Given the description of an element on the screen output the (x, y) to click on. 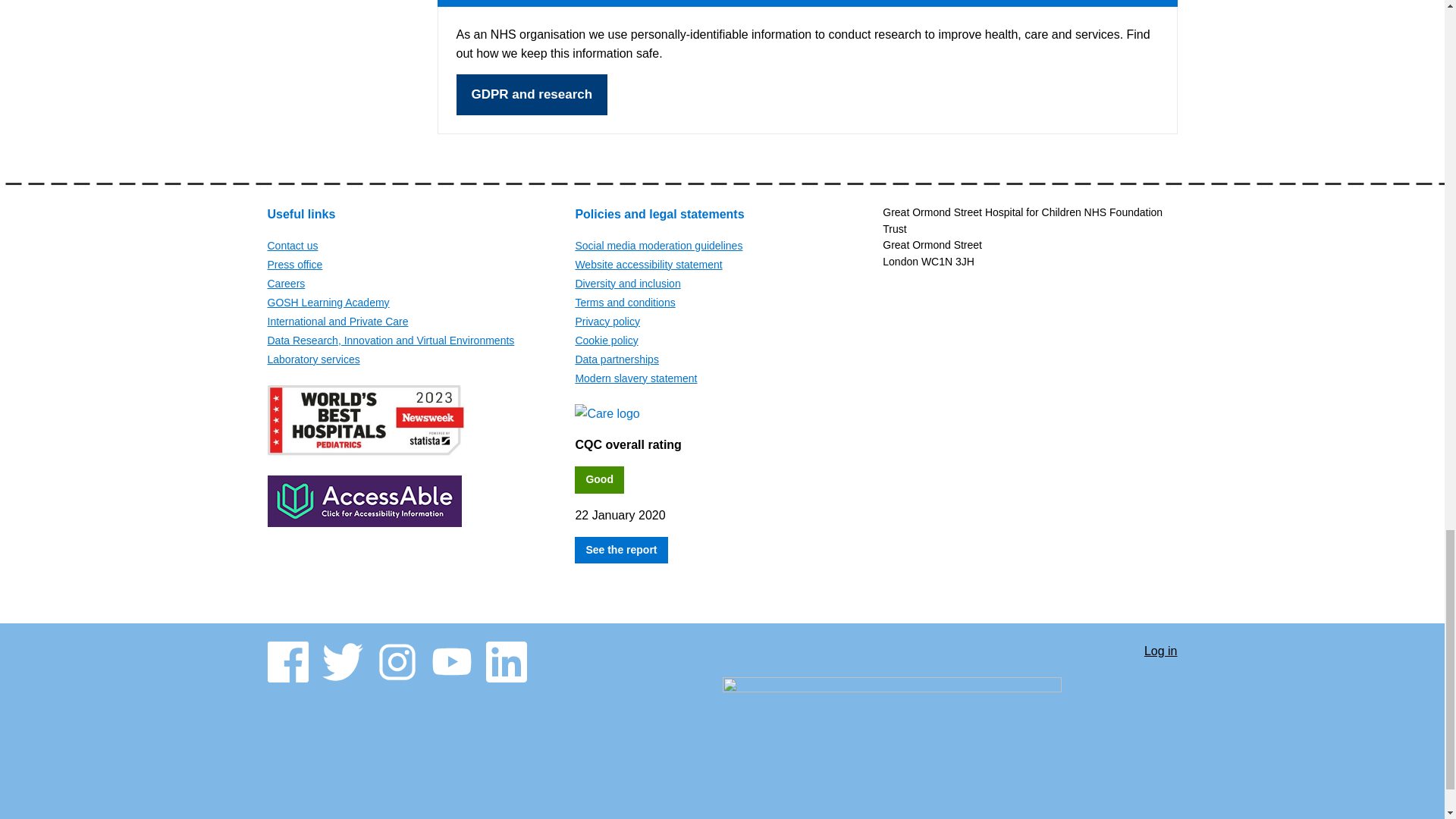
Follow us on Instagram (395, 661)
Follow us on Twitter (341, 661)
Follow us on Linkedin (504, 661)
Follow us on Facebook (286, 661)
Follow us on Youtube (450, 661)
